Given the description of an element on the screen output the (x, y) to click on. 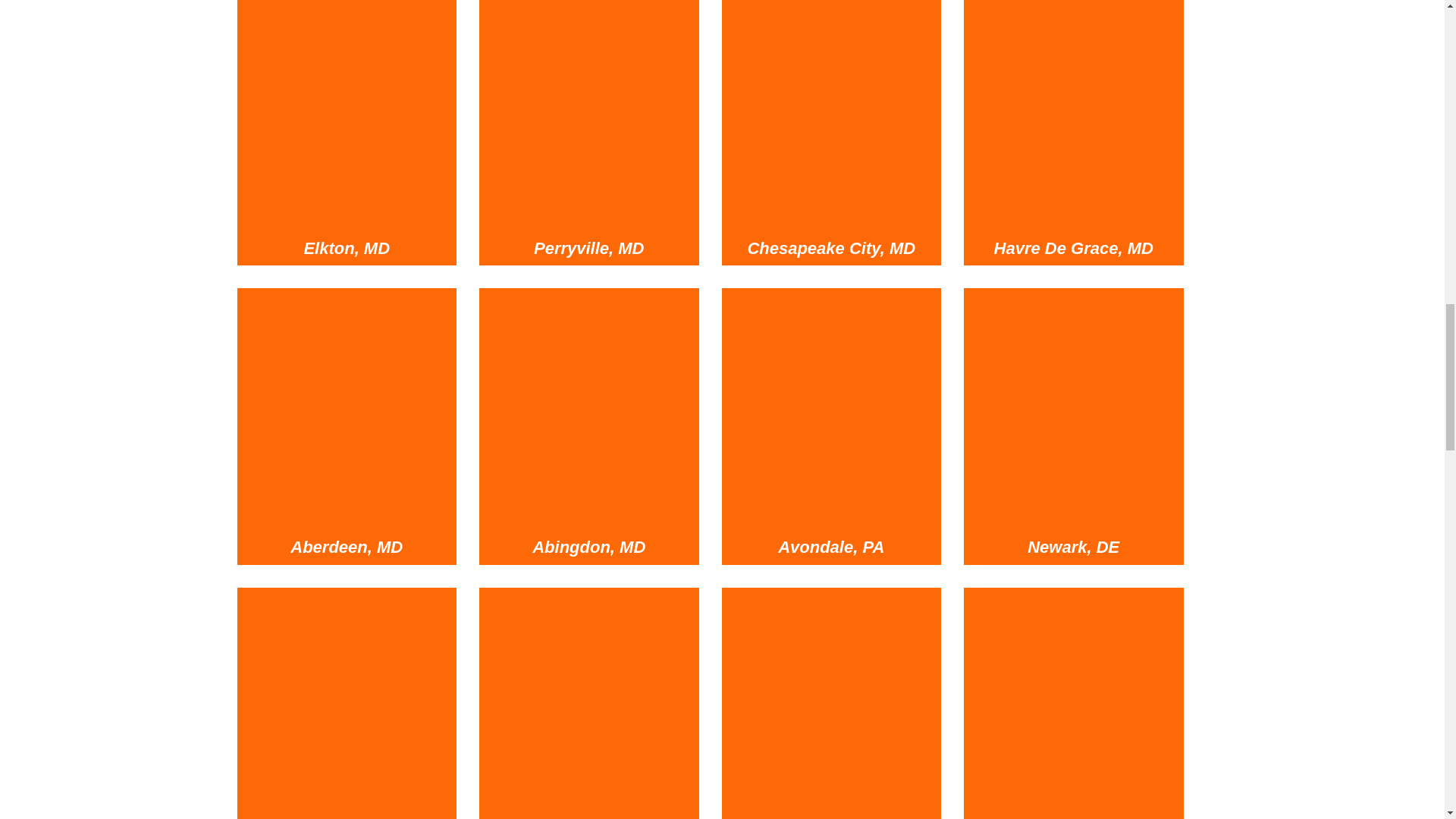
Newark, DE (1073, 409)
Chesapeake City, MD (830, 248)
Aberdeen, MD (346, 409)
Chesapeake City, MD (831, 112)
Elkton, MD (346, 248)
Perryville, MD (588, 112)
Avondale, PA (831, 409)
Havre De Grace, MD (1073, 248)
Havre De Grace, MD (1073, 112)
New Castle, DE (346, 707)
Elkton, MD (346, 112)
Perryville, MD (589, 248)
Abingdon, MD (588, 409)
